Given the description of an element on the screen output the (x, y) to click on. 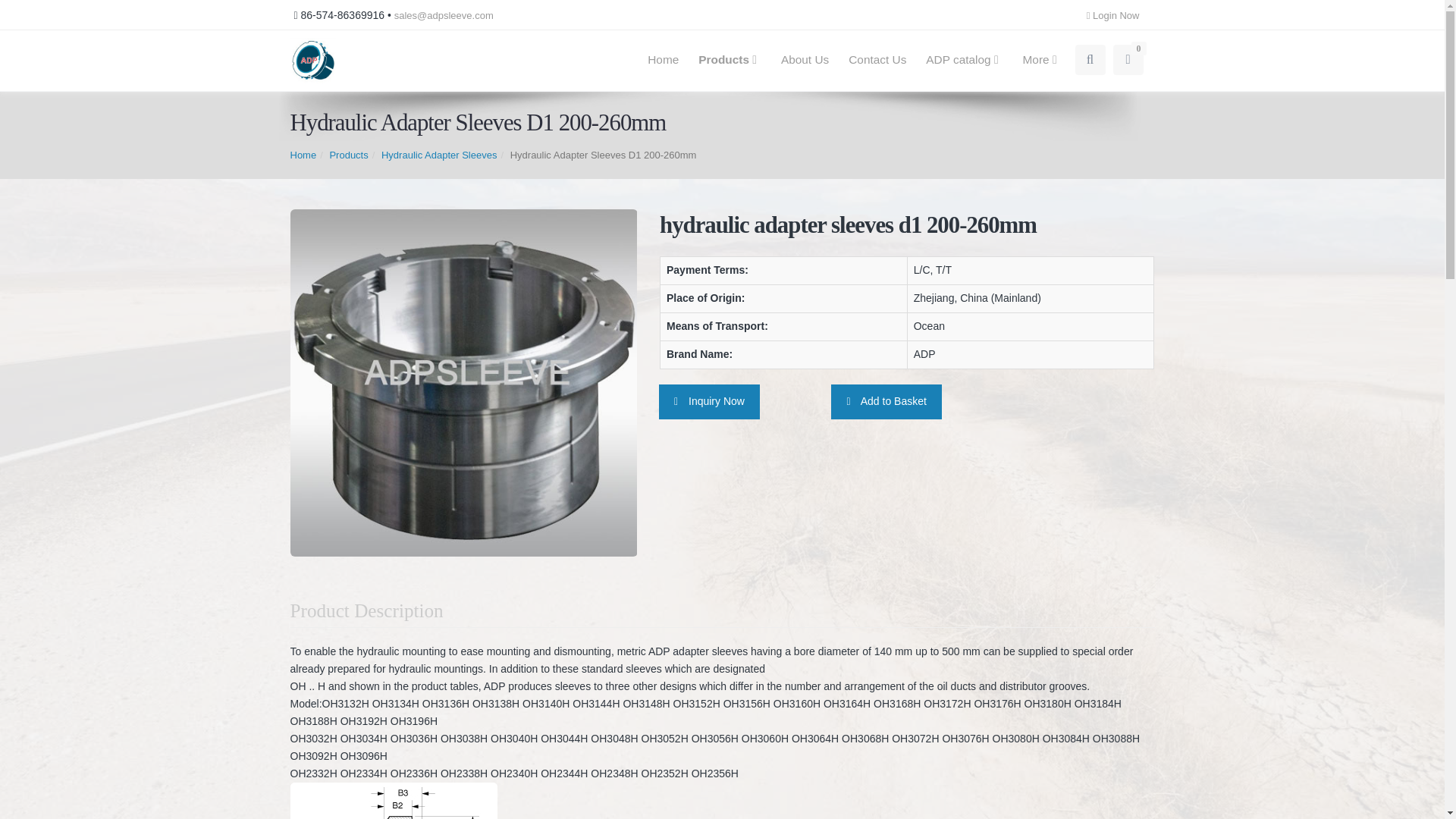
More (889, 60)
Contact Us (1042, 60)
ADP catalog (877, 60)
Products (963, 60)
Home (730, 60)
Login Now (663, 60)
About Us (1116, 15)
China bearing adapter sleeves Manufacturer (805, 60)
